Given the description of an element on the screen output the (x, y) to click on. 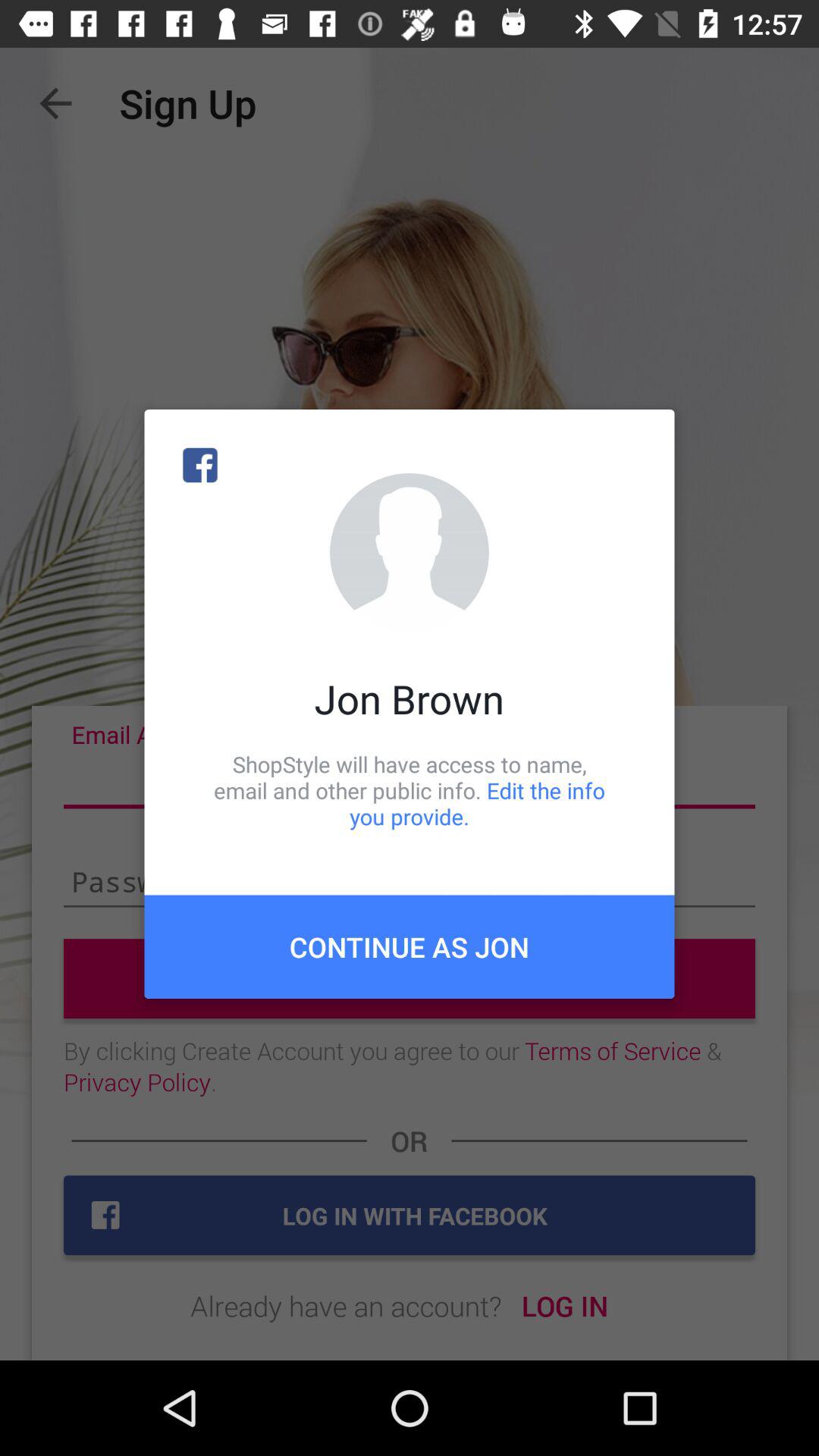
turn on shopstyle will have item (409, 790)
